Given the description of an element on the screen output the (x, y) to click on. 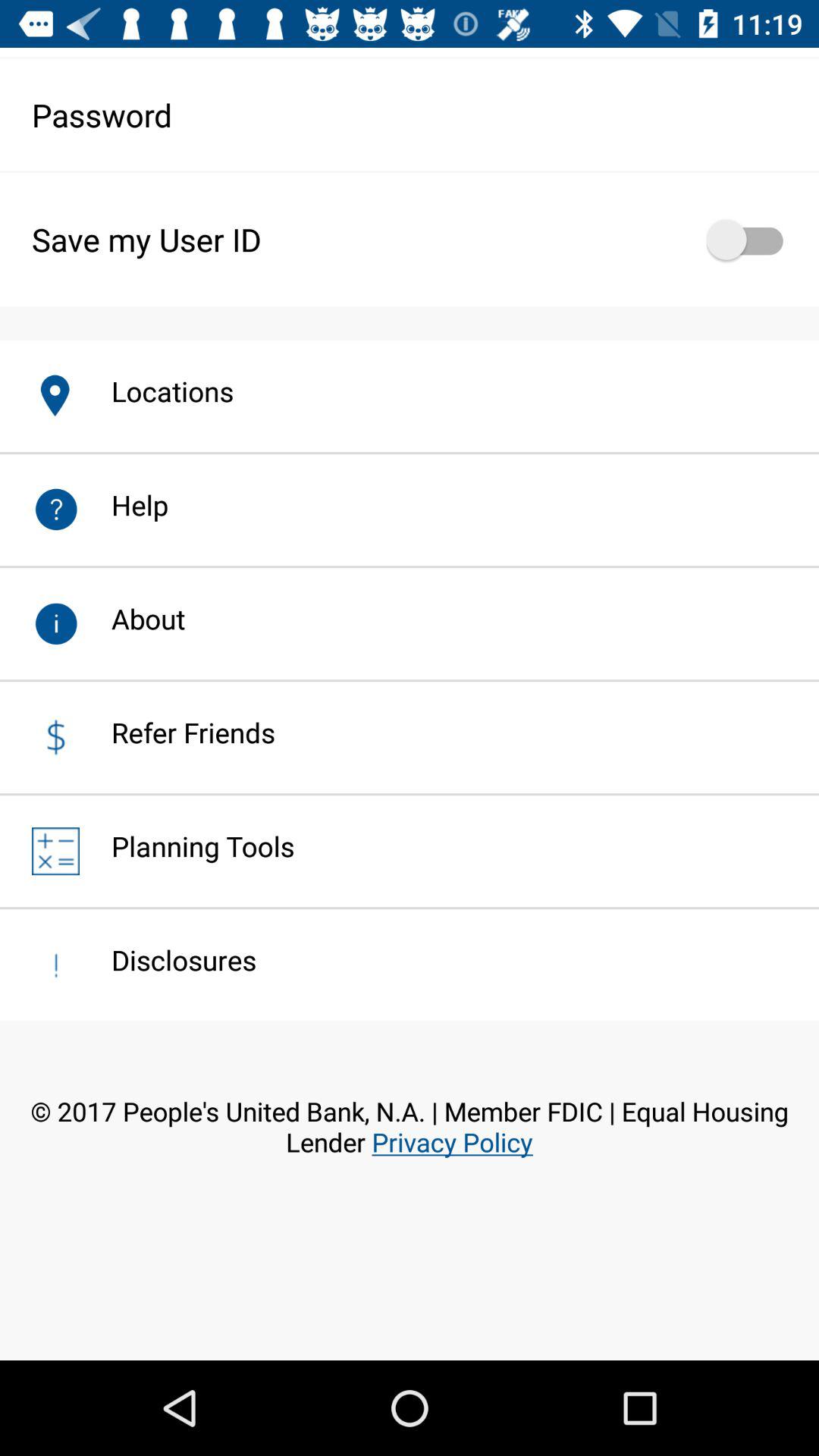
flip to refer friends item (177, 732)
